Given the description of an element on the screen output the (x, y) to click on. 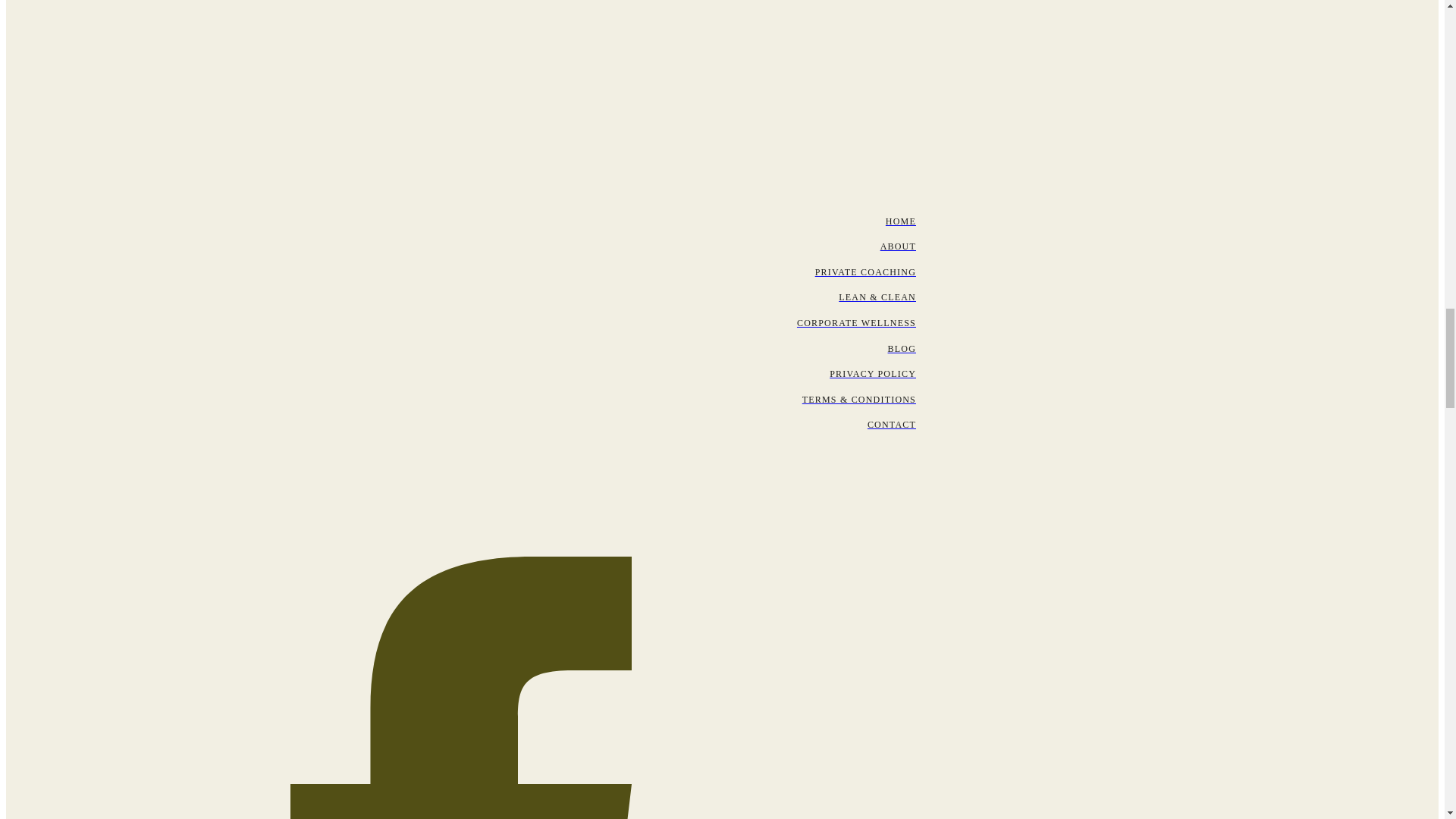
HOME (460, 221)
BLOG (460, 349)
CONTACT (460, 425)
PRIVATE COACHING (460, 272)
ABOUT (460, 247)
CORPORATE WELLNESS (460, 323)
PRIVACY POLICY (460, 374)
